Given the description of an element on the screen output the (x, y) to click on. 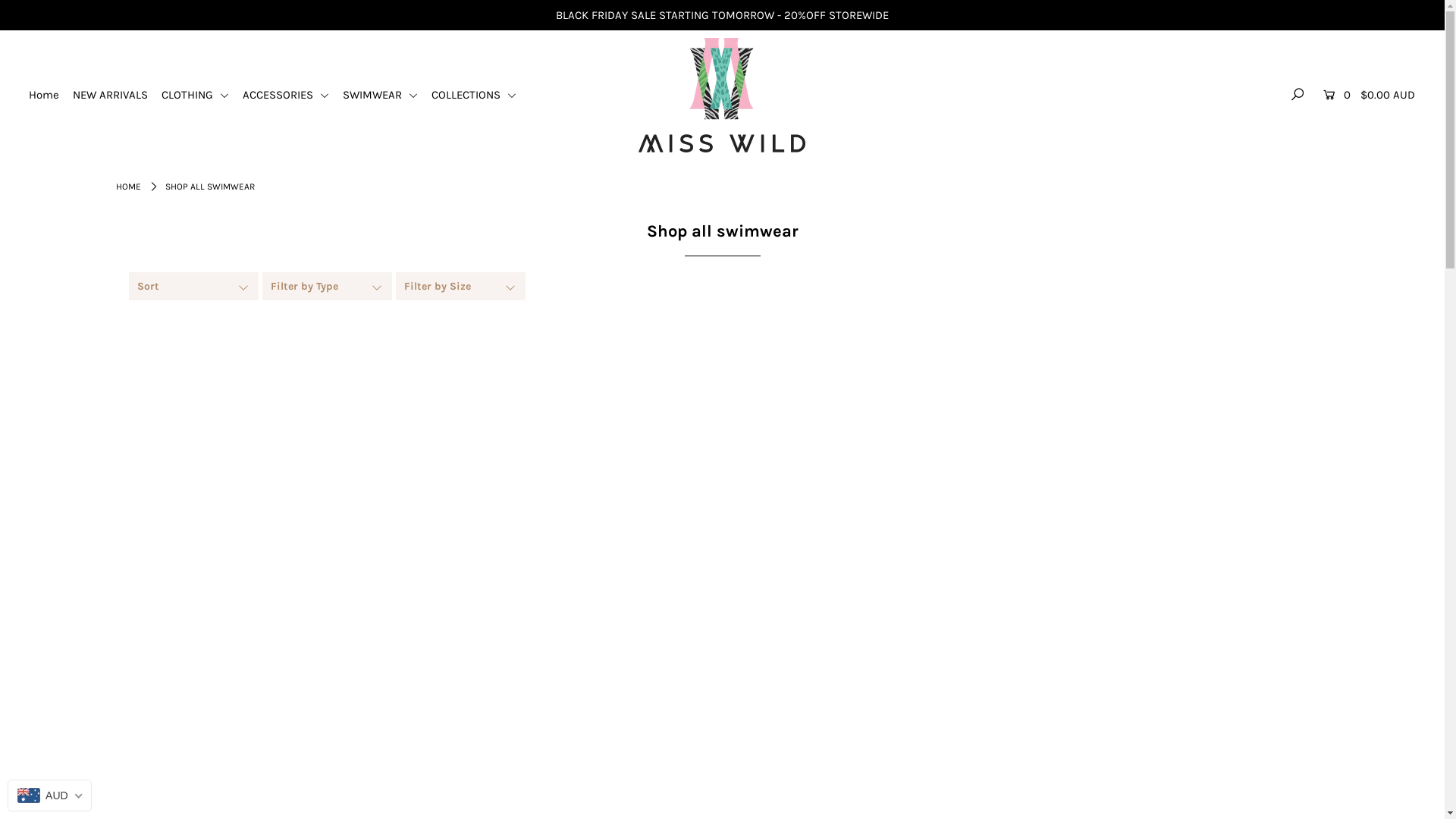
  0  $0.00 AUD Element type: text (1366, 94)
NEW ARRIVALS Element type: text (115, 94)
COLLECTIONS Element type: text (479, 94)
Filter by Size Element type: text (462, 285)
CLOTHING Element type: text (200, 94)
ACCESSORIES Element type: text (291, 94)
Filter by Type Element type: text (328, 285)
Home Element type: text (49, 94)
HOME Element type: text (127, 186)
Sort Element type: text (195, 285)
SWIMWEAR Element type: text (385, 94)
